Given the description of an element on the screen output the (x, y) to click on. 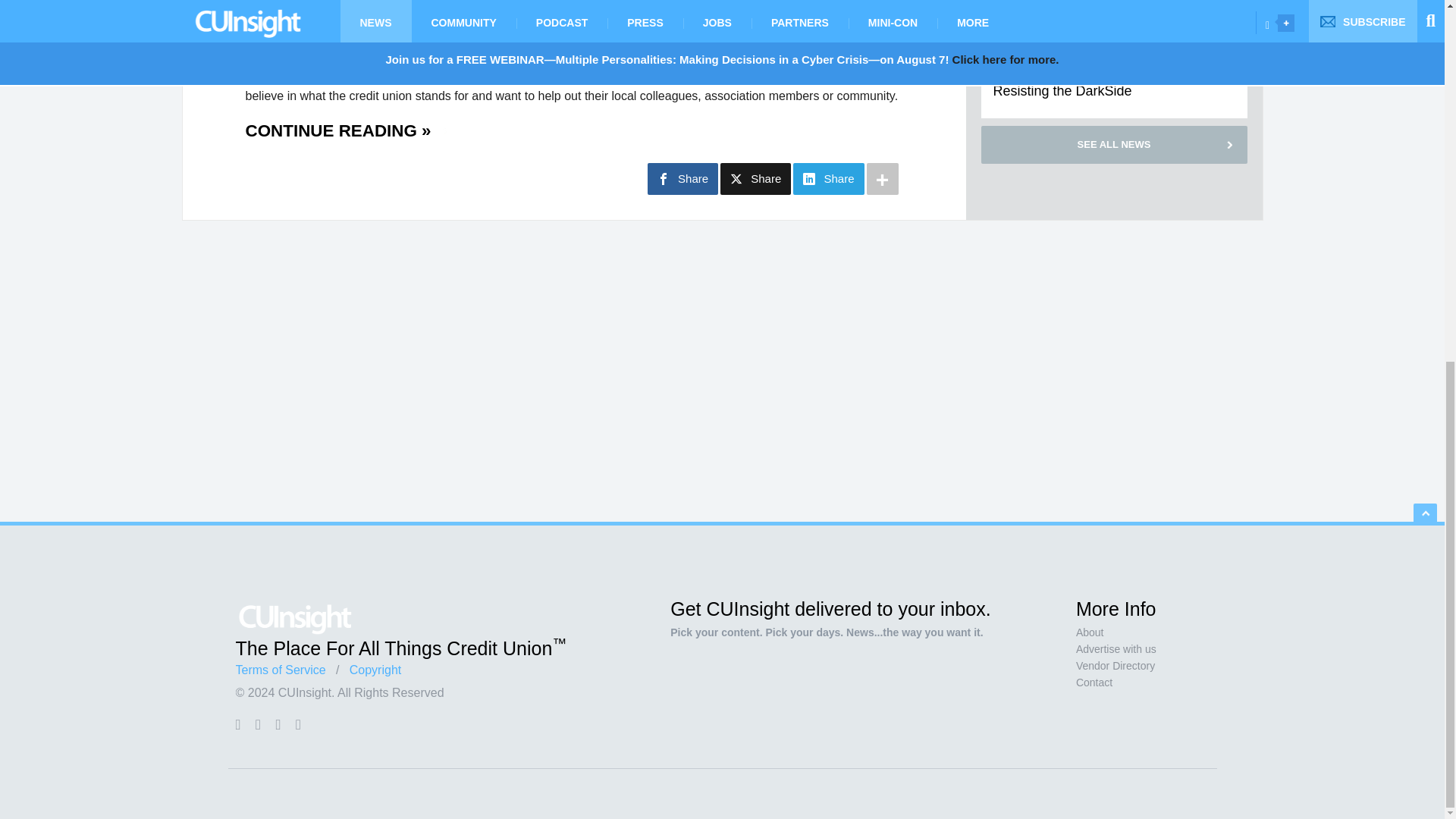
Resisting the DarkSide (1062, 90)
